Given the description of an element on the screen output the (x, y) to click on. 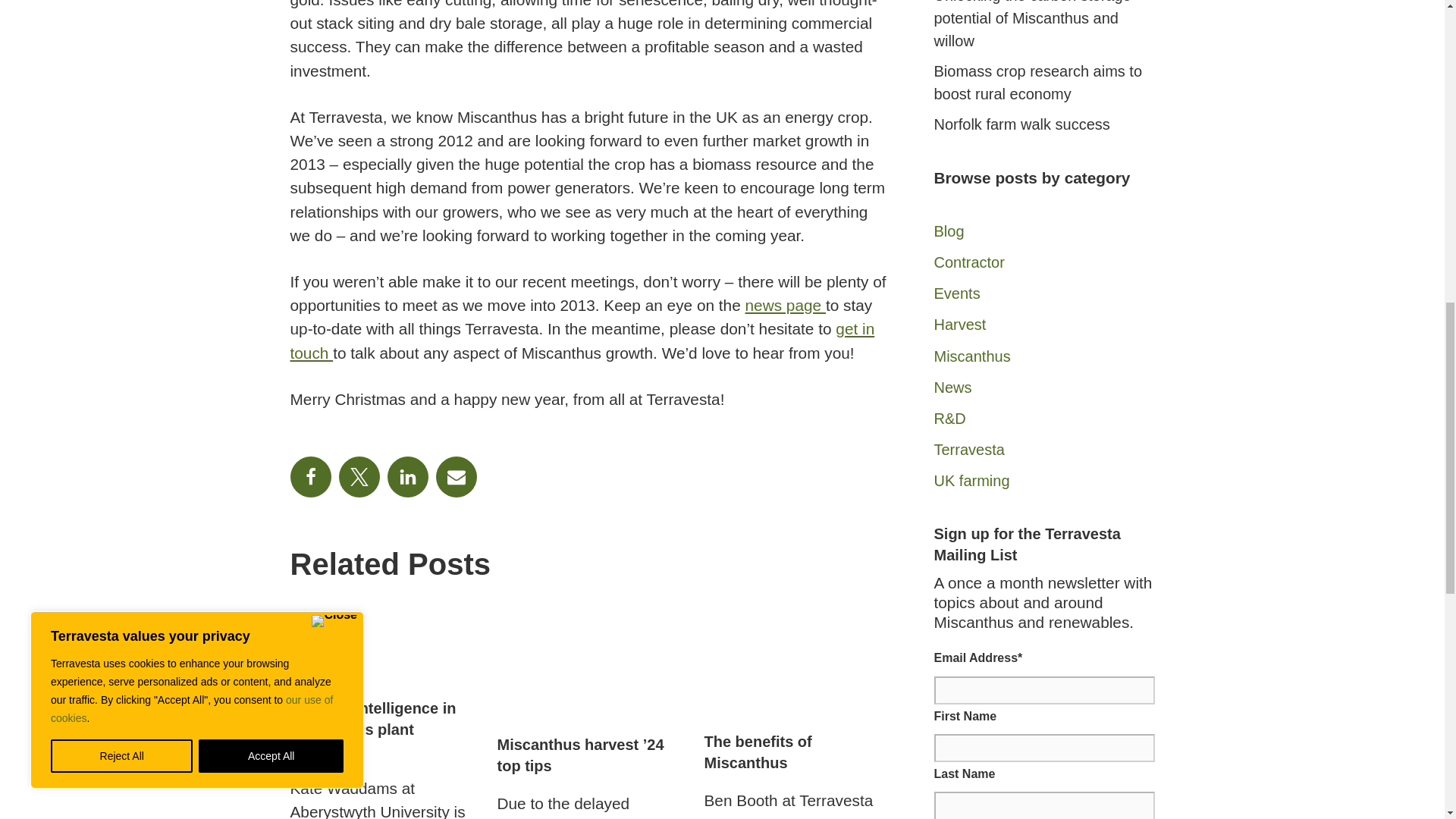
Facebook (309, 476)
LinkedIn (407, 476)
Email (455, 476)
Twitter (357, 476)
